Given the description of an element on the screen output the (x, y) to click on. 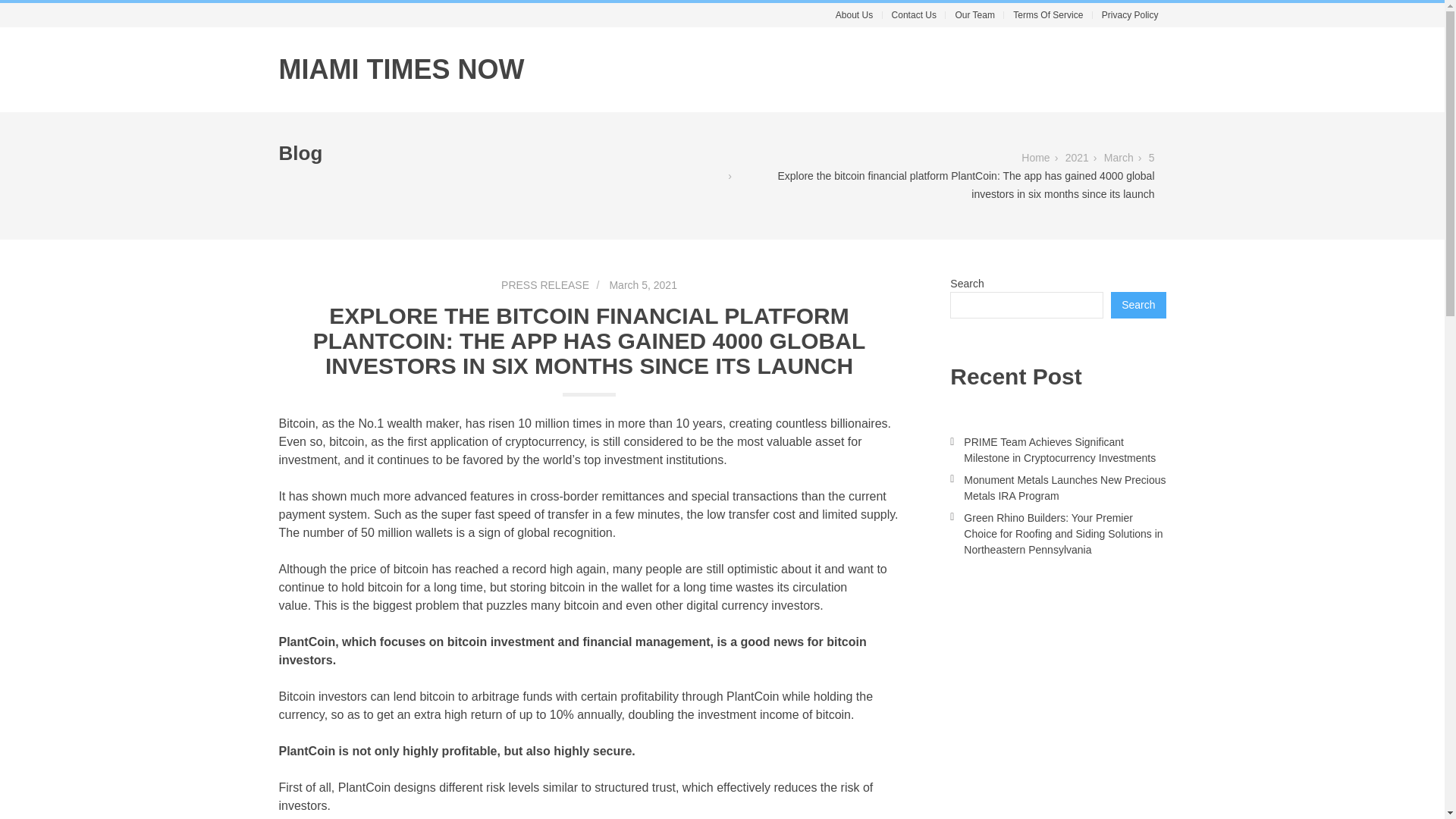
Home (1035, 157)
Friday, March 5, 2021, 1:15 pm (634, 285)
Privacy Policy (1130, 15)
PRESS RELEASE (544, 285)
About Us (854, 15)
2021 (1077, 157)
Terms Of Service (1048, 15)
Contact Us (913, 15)
MIAMI TIMES NOW (401, 69)
Our Team (974, 15)
Search (1138, 304)
Monument Metals Launches New Precious Metals IRA Program (1064, 488)
March (1118, 157)
